Given the description of an element on the screen output the (x, y) to click on. 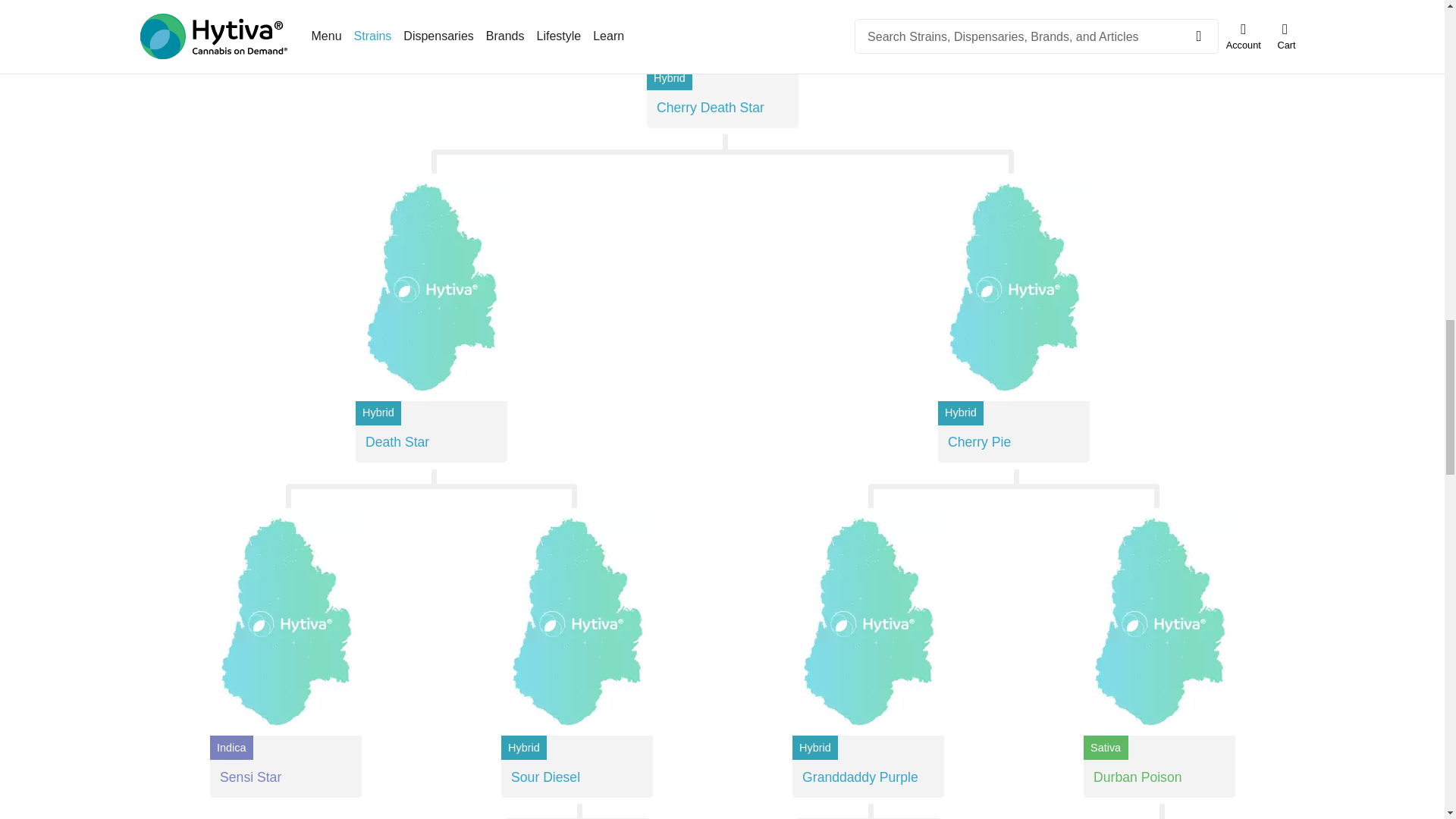
Cherry Death Star - Hybrid Cannabis Strain by Hytiva (721, 33)
Cherry Death Star (721, 107)
